Given the description of an element on the screen output the (x, y) to click on. 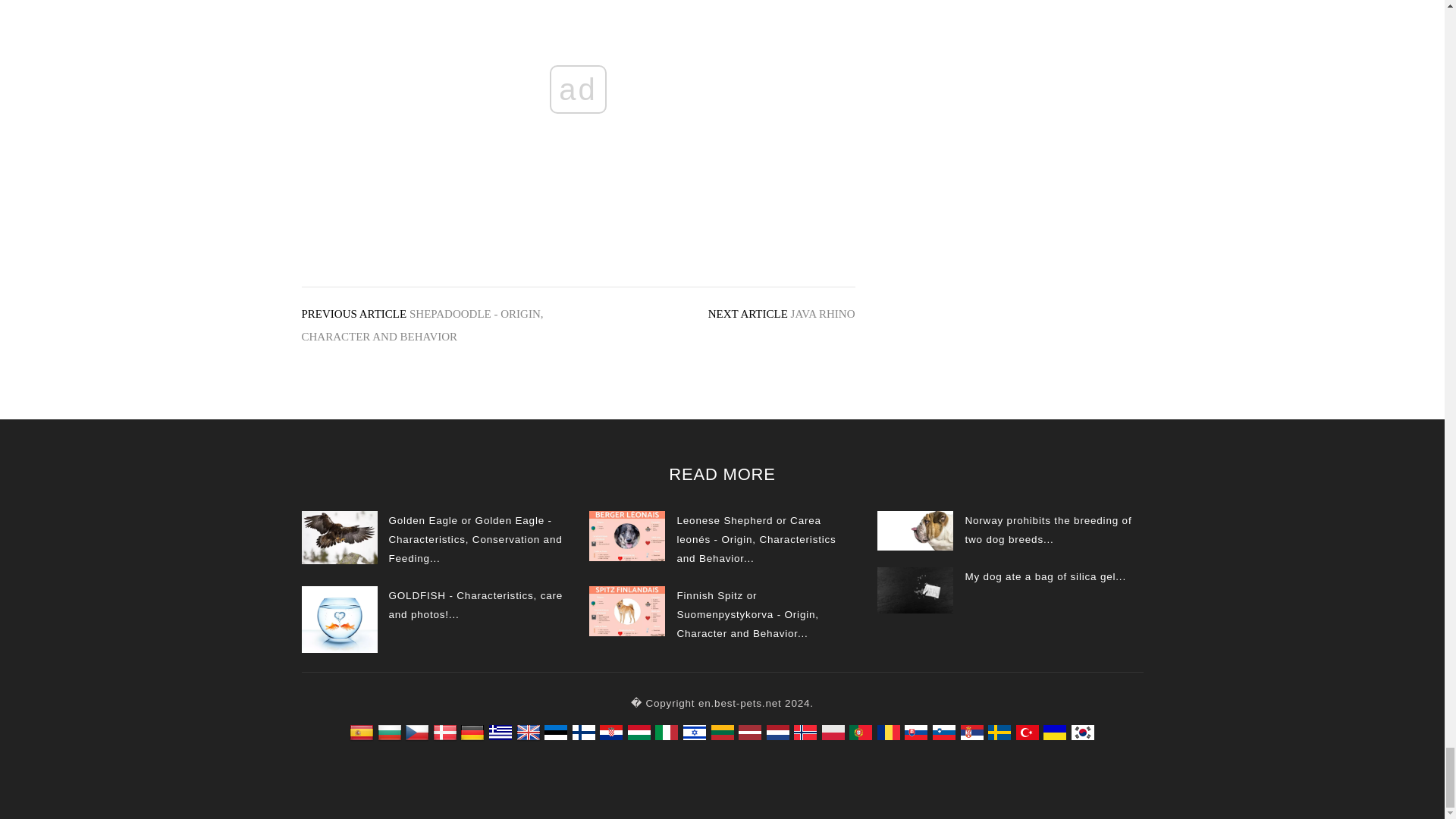
NEXT ARTICLE JAVA RHINO (781, 313)
